Given the description of an element on the screen output the (x, y) to click on. 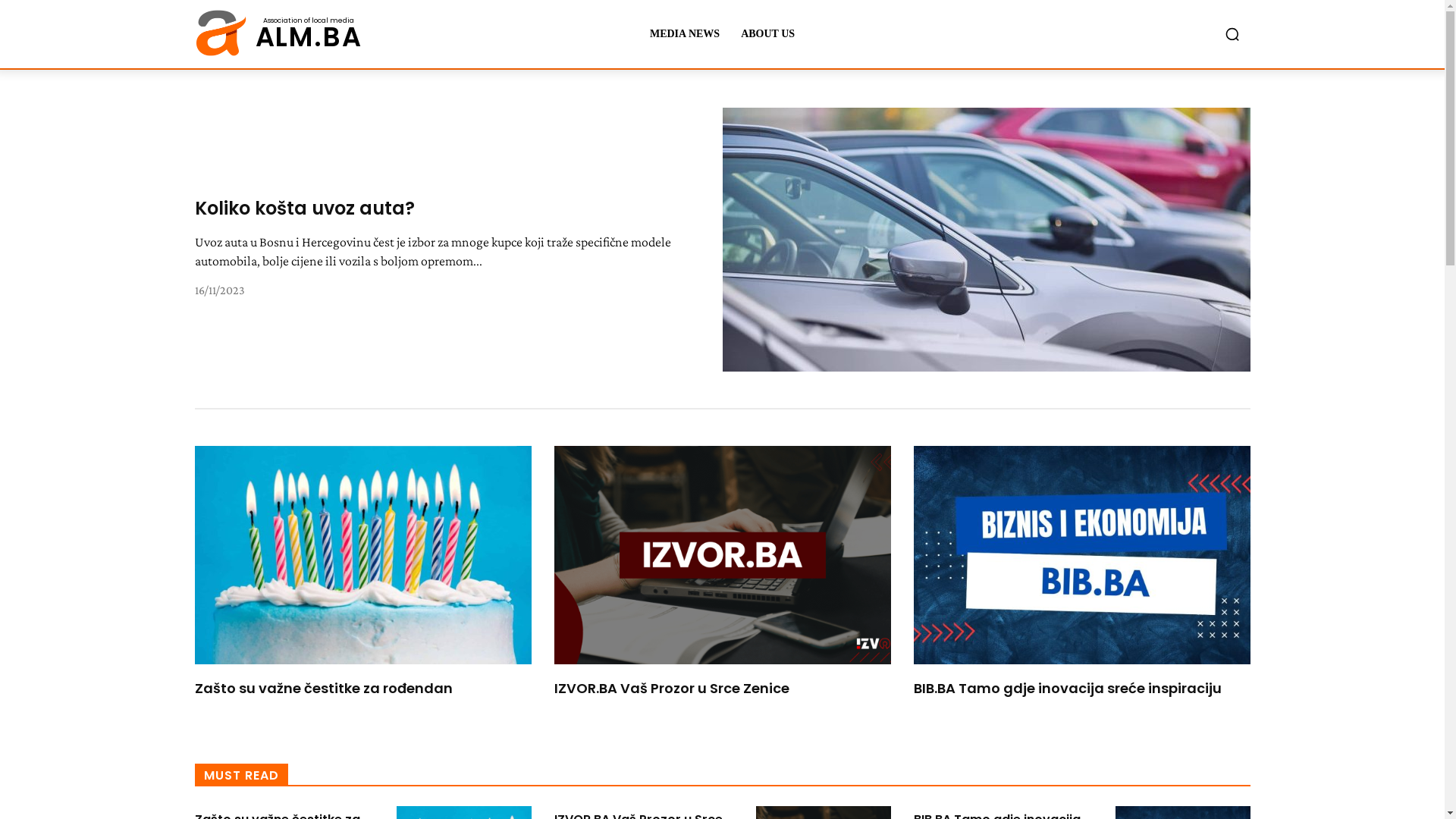
MEDIA NEWS Element type: text (684, 33)
Association of local media
ALM.BA Element type: text (277, 33)
ABOUT US Element type: text (767, 33)
